Given the description of an element on the screen output the (x, y) to click on. 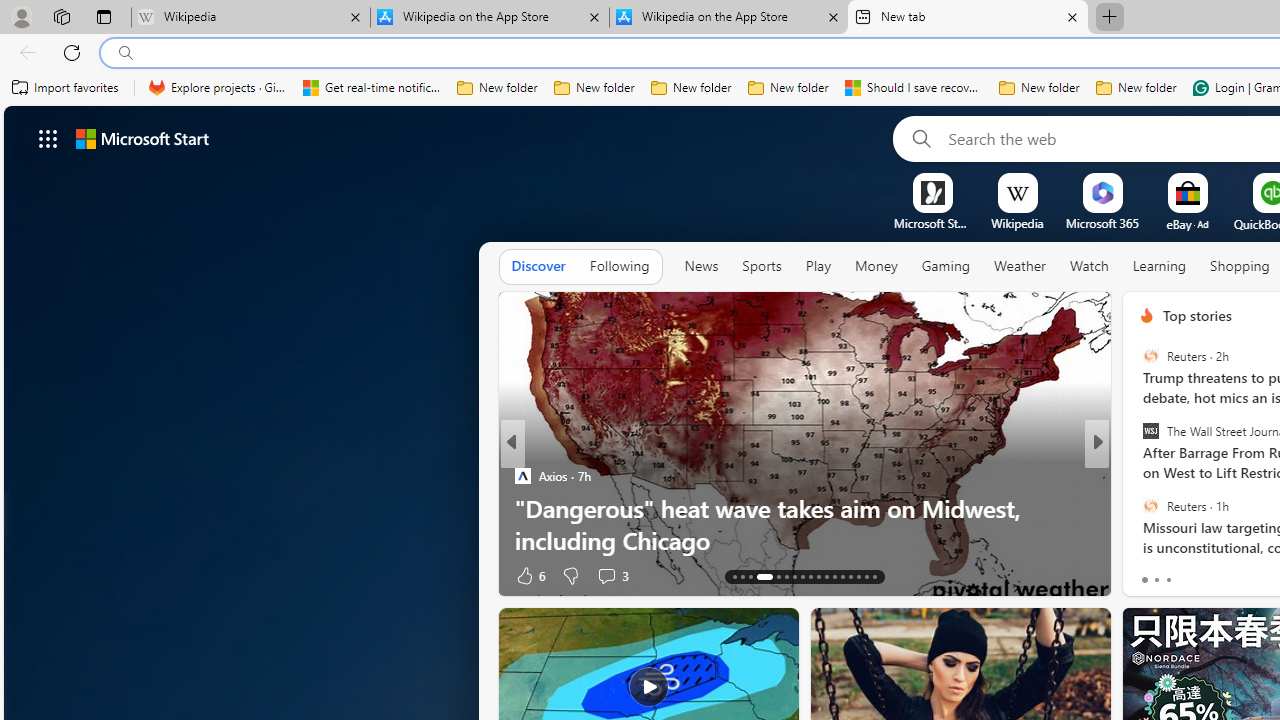
Import favorites (65, 88)
AutomationID: tab-23 (825, 576)
View comments 33 Comment (1244, 574)
Homes & Gardens (1138, 475)
AutomationID: tab-21 (810, 576)
